Given the description of an element on the screen output the (x, y) to click on. 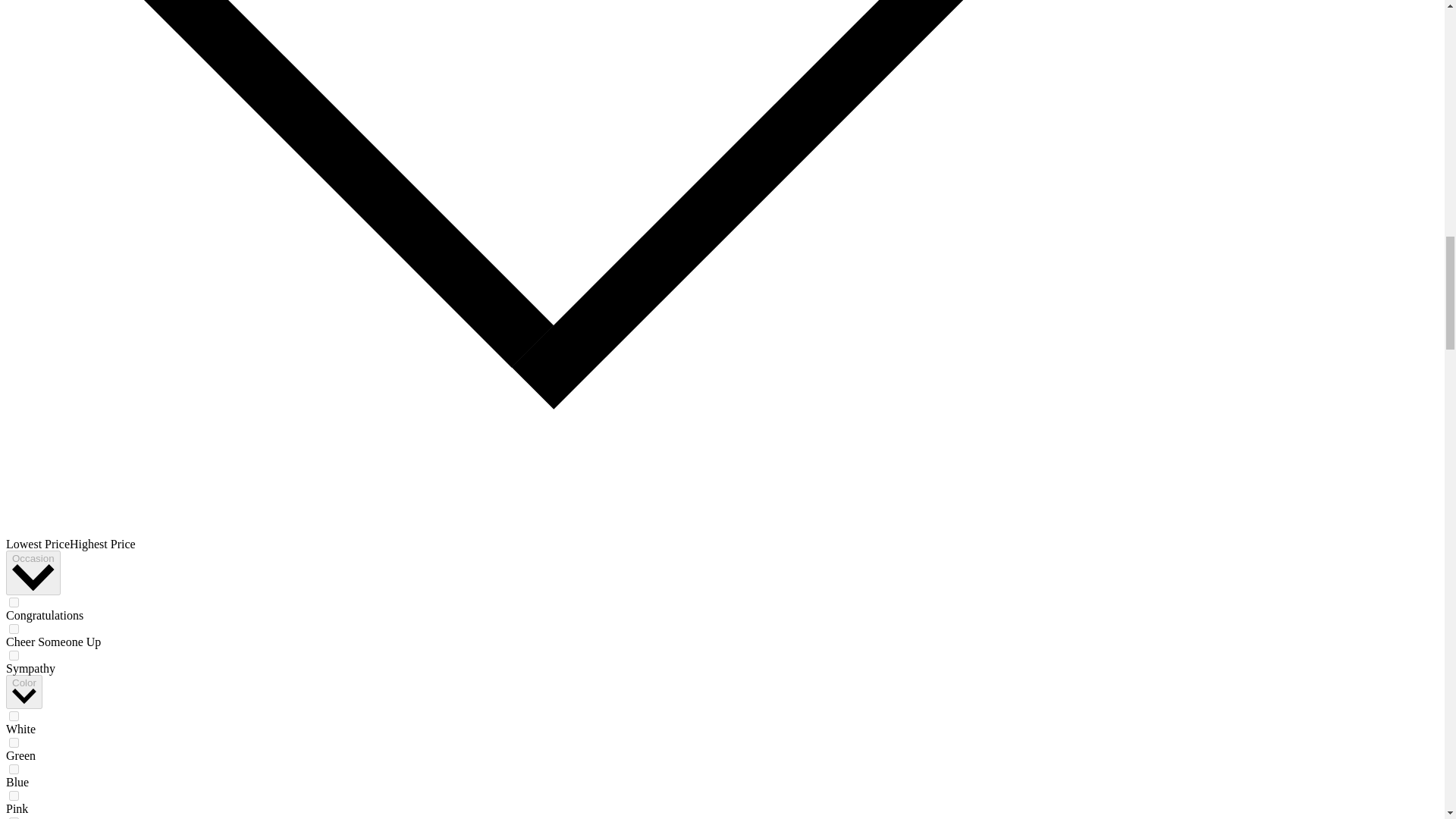
1 (13, 628)
1 (13, 742)
1 (13, 795)
1 (13, 716)
1 (13, 602)
1 (13, 655)
1 (13, 768)
